Given the description of an element on the screen output the (x, y) to click on. 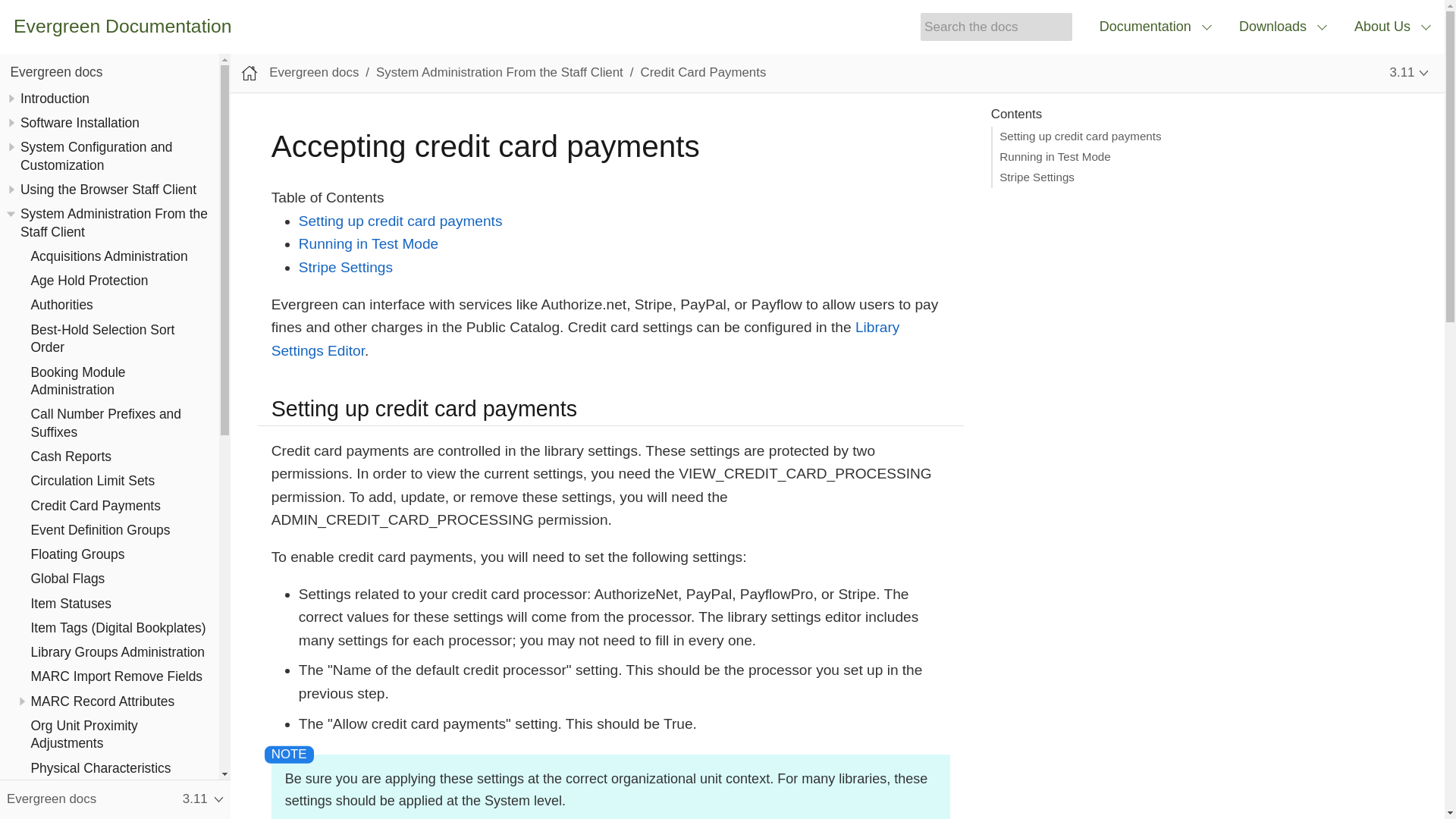
Documentation (1155, 27)
Evergreen Documentation (122, 26)
Note (288, 754)
Show other versions of page (1409, 72)
Introduction (54, 98)
Software Installation (79, 122)
System Configuration and Customization (95, 155)
Downloads (1282, 27)
Evergreen docs (56, 71)
